Given the description of an element on the screen output the (x, y) to click on. 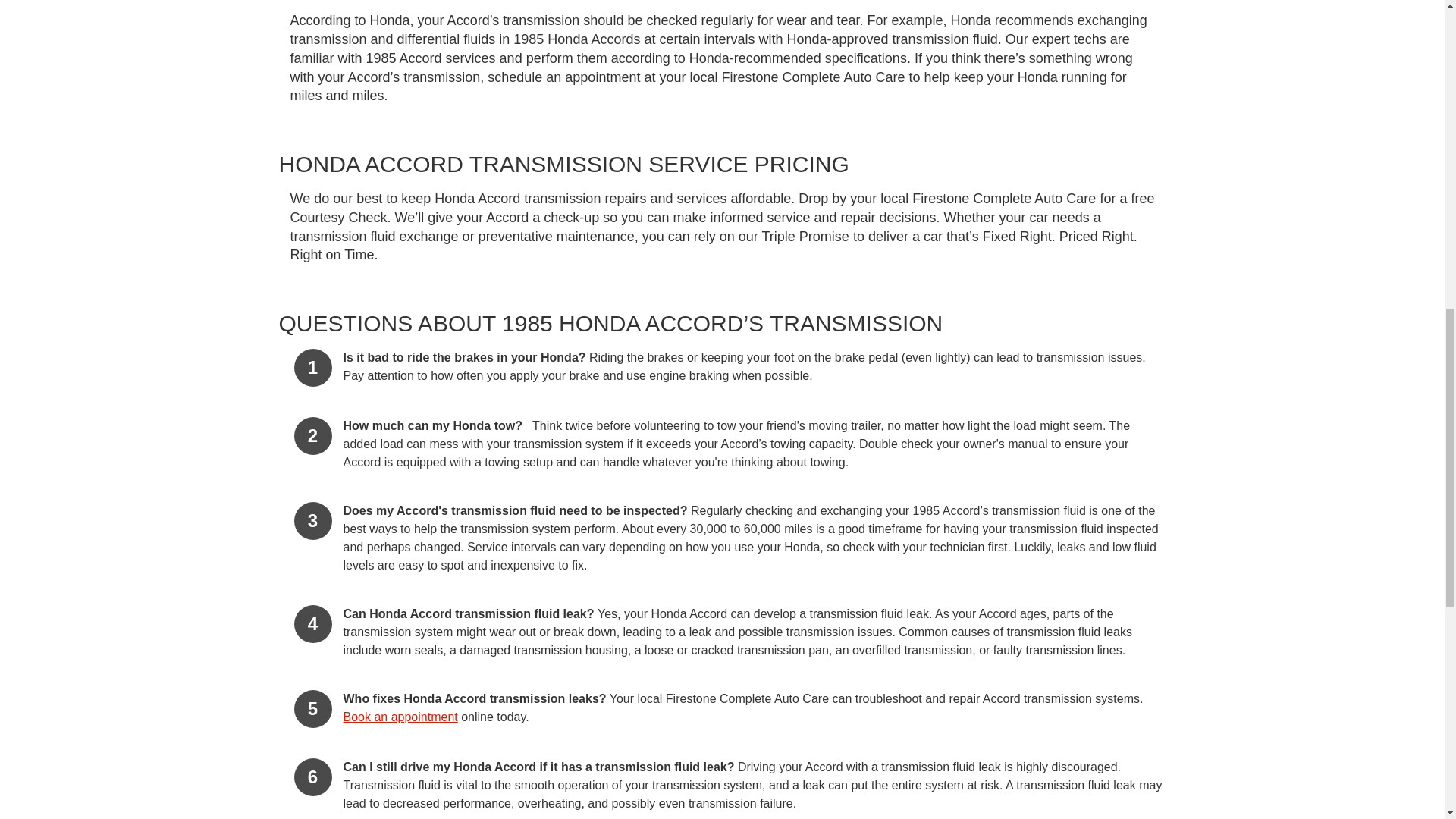
Book an appointment (399, 716)
